Given the description of an element on the screen output the (x, y) to click on. 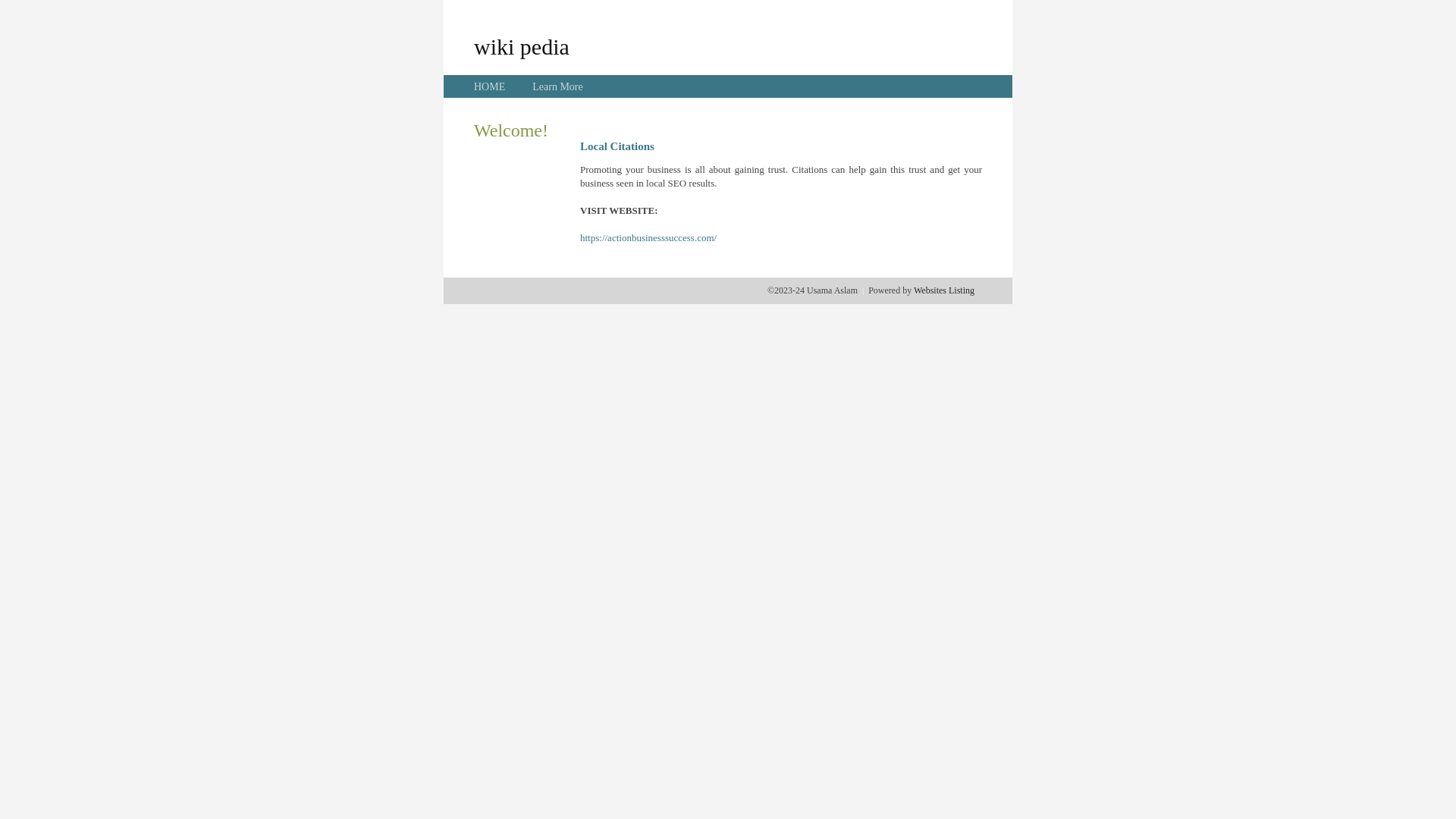
HOME Element type: text (489, 86)
Websites Listing Element type: text (943, 290)
Learn More Element type: text (557, 86)
wiki pedia Element type: text (521, 46)
https://actionbusinesssuccess.com/ Element type: text (648, 237)
